Given the description of an element on the screen output the (x, y) to click on. 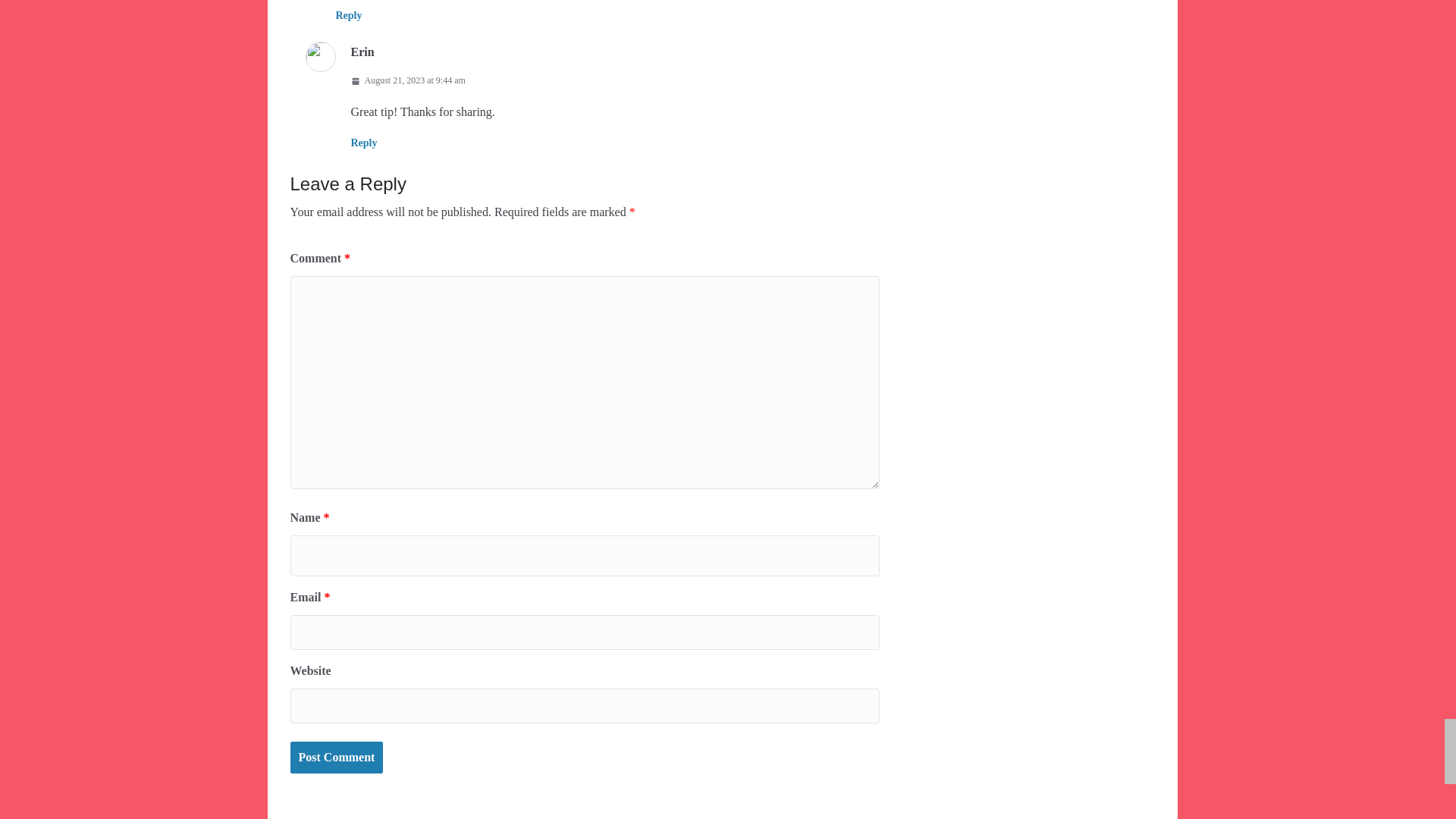
Post Comment (335, 757)
